Given the description of an element on the screen output the (x, y) to click on. 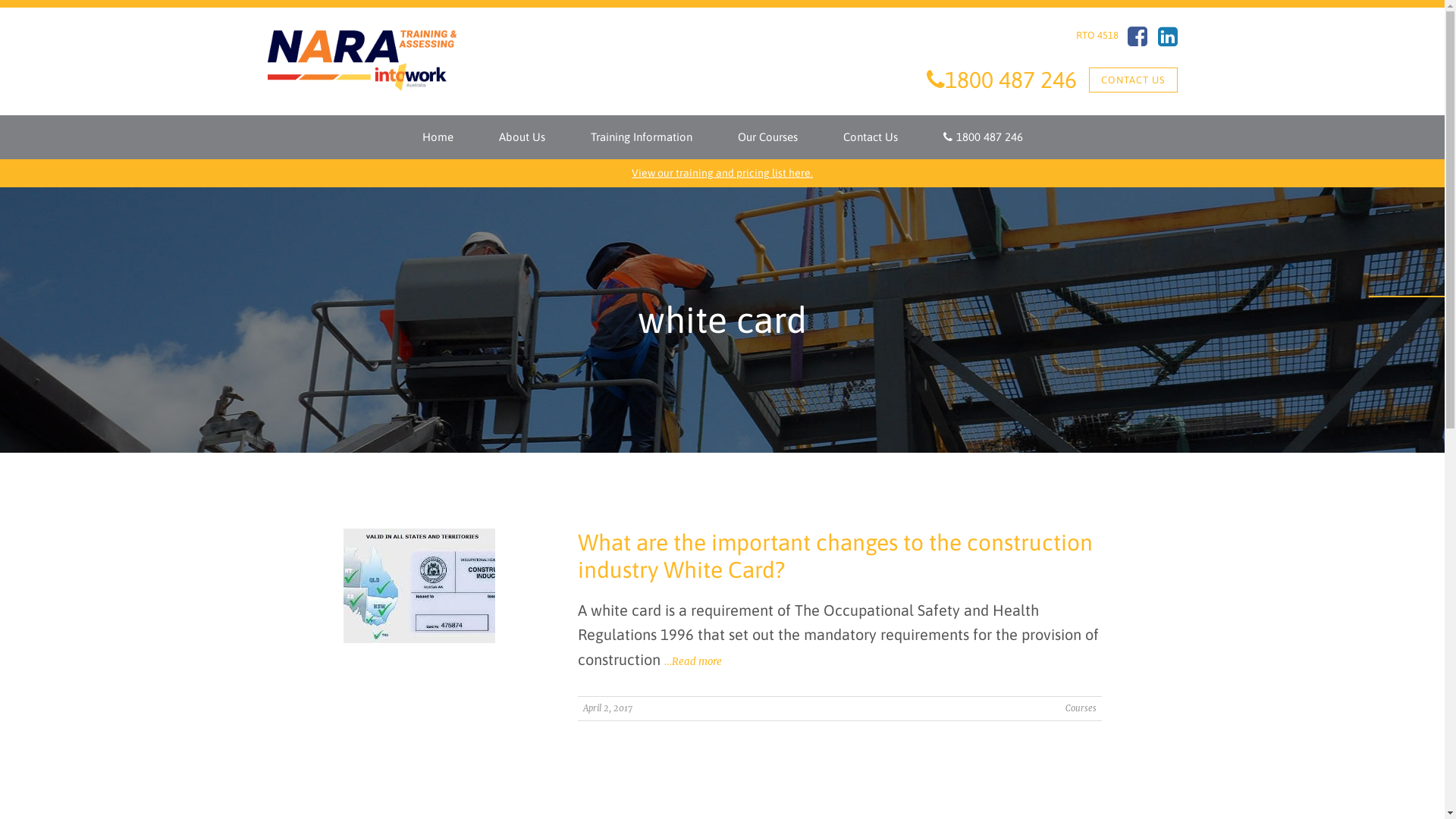
Our Courses Element type: text (767, 137)
Training Information Element type: text (640, 137)
Home Element type: text (436, 137)
Contact Us Element type: text (870, 137)
View our training and pricing list here. Element type: text (721, 172)
About Us Element type: text (521, 137)
1800 487 246 Element type: text (982, 137)
Courses Element type: text (1079, 707)
RTO 4518 Element type: text (1096, 34)
CONTACT US Element type: text (1132, 79)
